Given the description of an element on the screen output the (x, y) to click on. 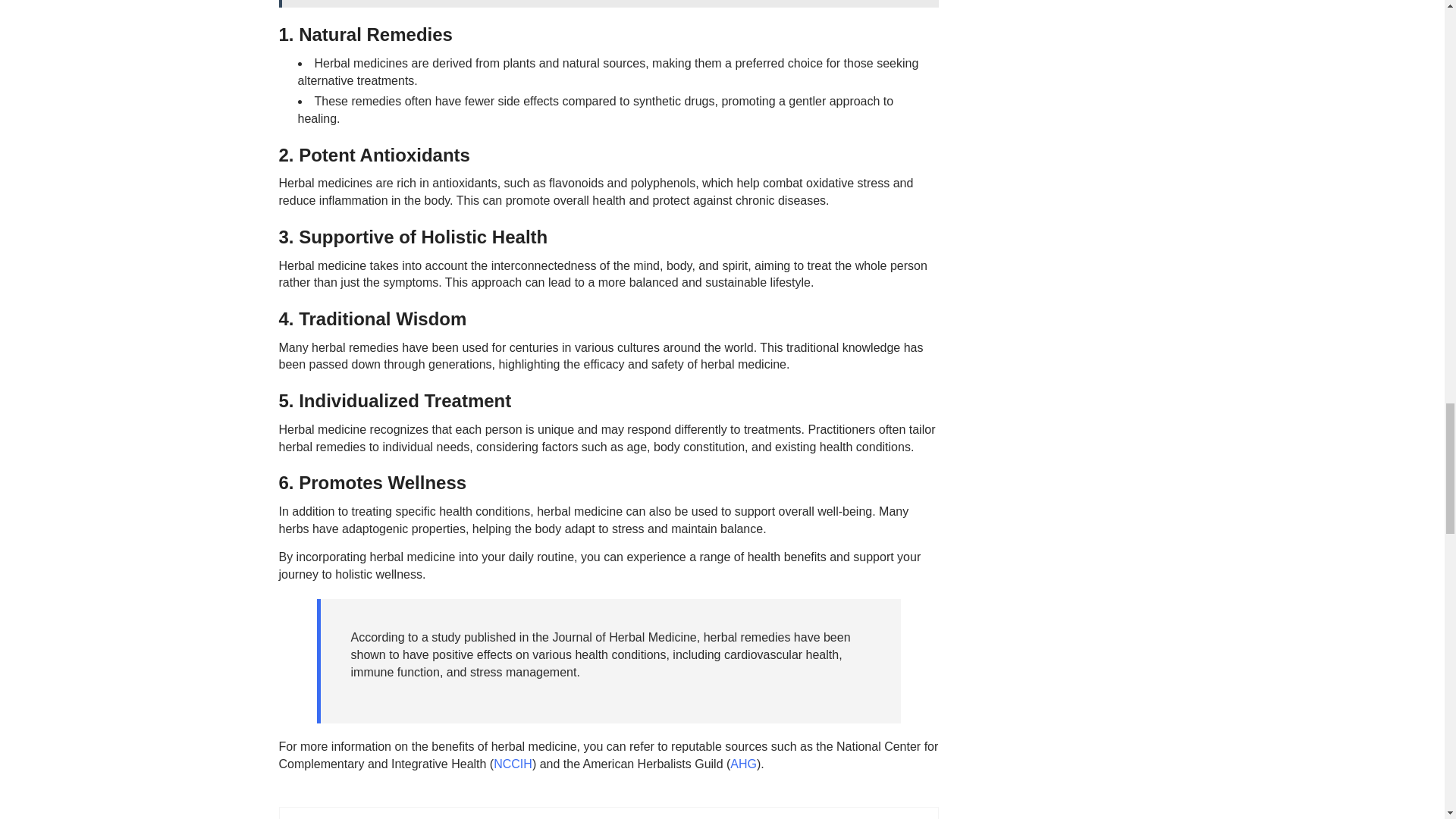
NCCIH (512, 763)
Karela (529, 817)
AHG (743, 763)
Karela (529, 817)
